Given the description of an element on the screen output the (x, y) to click on. 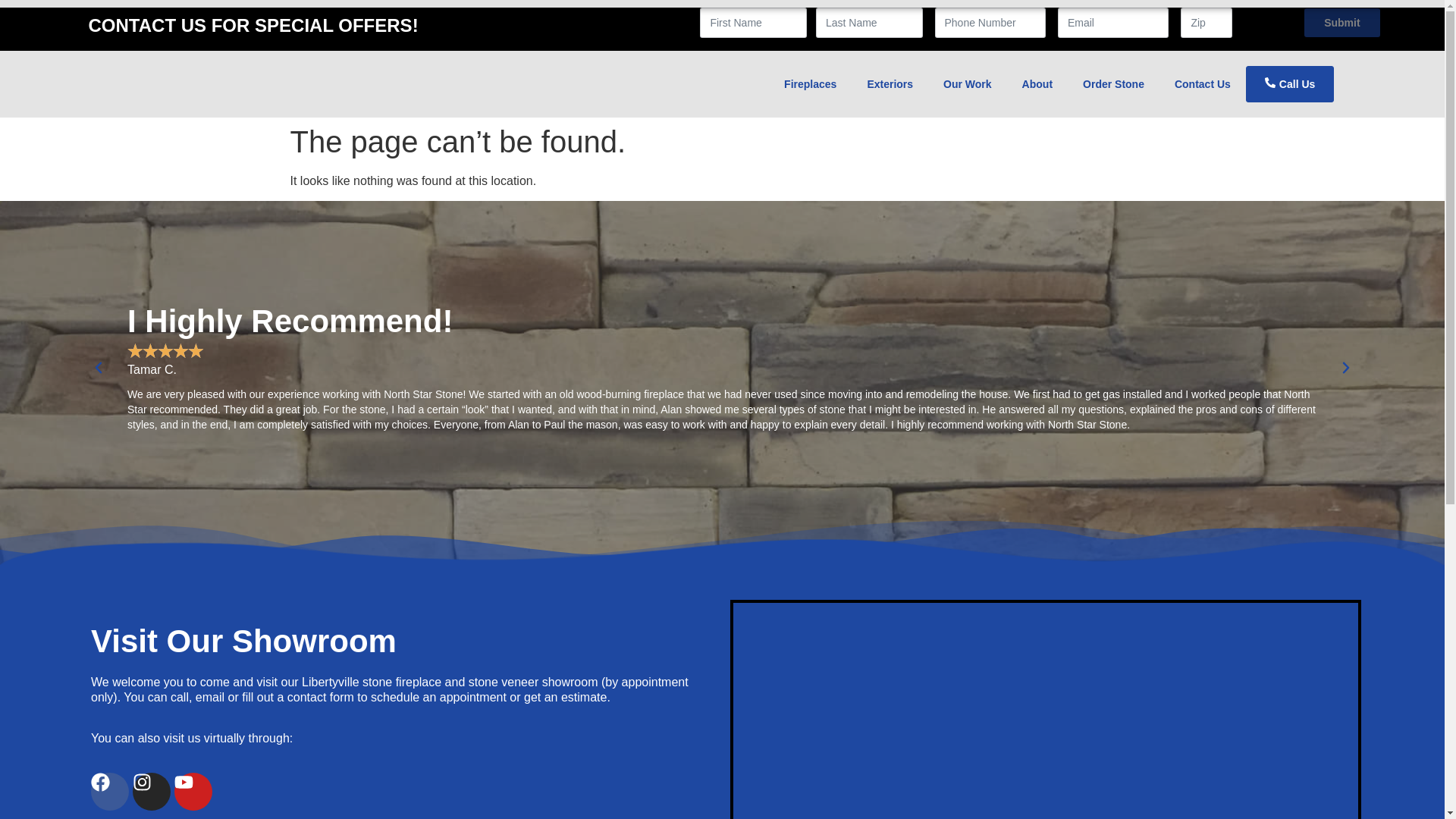
Submit (1342, 22)
Submit (1342, 22)
Fireplaces (809, 84)
Our Work (967, 84)
Exteriors (889, 84)
